Given the description of an element on the screen output the (x, y) to click on. 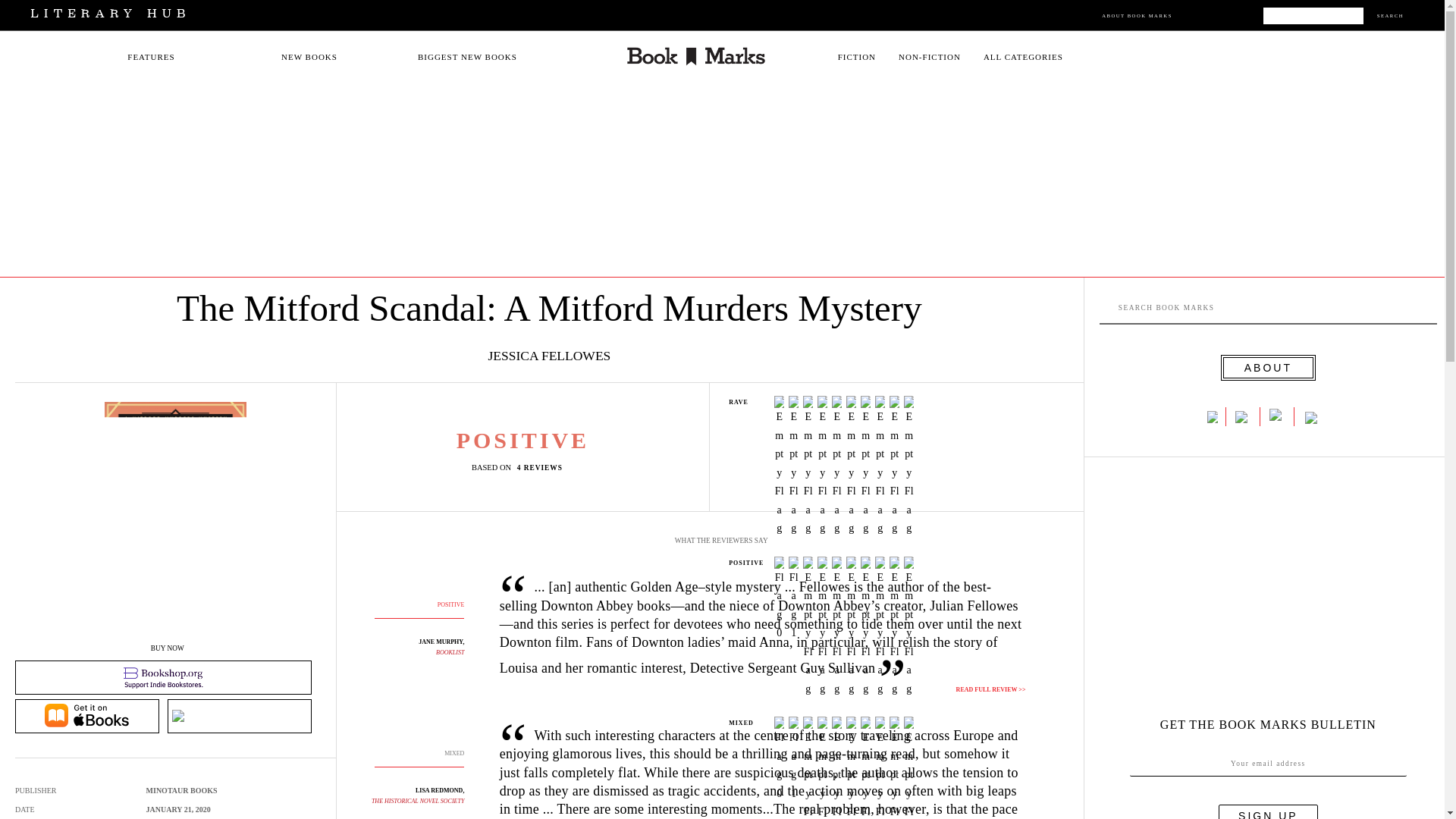
LISA REDMOND, (439, 790)
ABOUT BOOK MARKS (1137, 15)
THE HISTORICAL NOVEL SOCIETY (417, 800)
FICTION (857, 56)
SEARCH (1390, 15)
4 REVIEWS (543, 467)
FEATURES (151, 56)
